Given the description of an element on the screen output the (x, y) to click on. 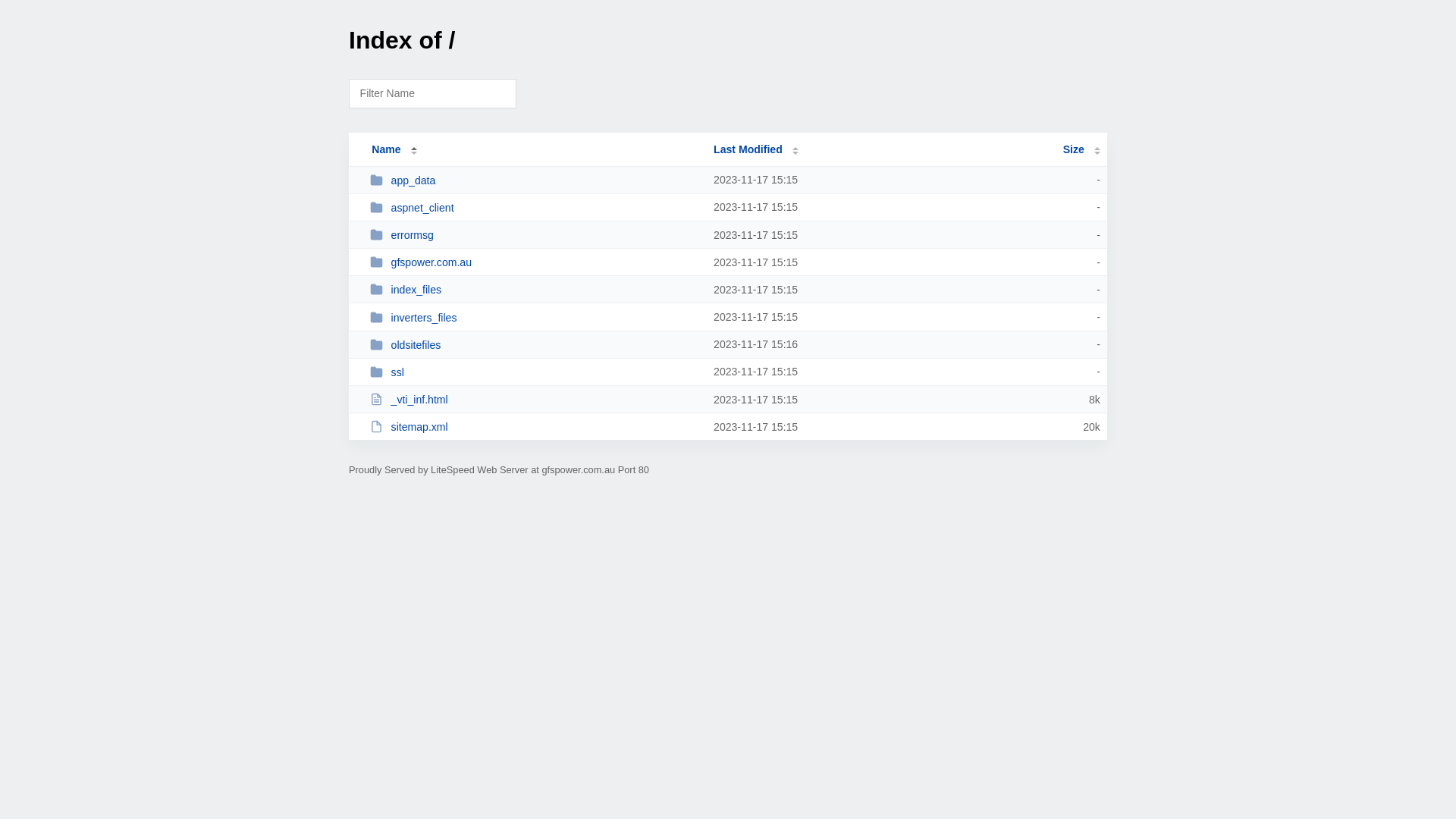
aspnet_client Element type: text (534, 206)
sitemap.xml Element type: text (534, 426)
ssl Element type: text (534, 371)
app_data Element type: text (534, 179)
Size Element type: text (1081, 149)
Last Modified Element type: text (755, 149)
oldsitefiles Element type: text (534, 344)
inverters_files Element type: text (534, 316)
_vti_inf.html Element type: text (534, 398)
errormsg Element type: text (534, 234)
index_files Element type: text (534, 288)
Name Element type: text (385, 149)
gfspower.com.au Element type: text (534, 261)
